Given the description of an element on the screen output the (x, y) to click on. 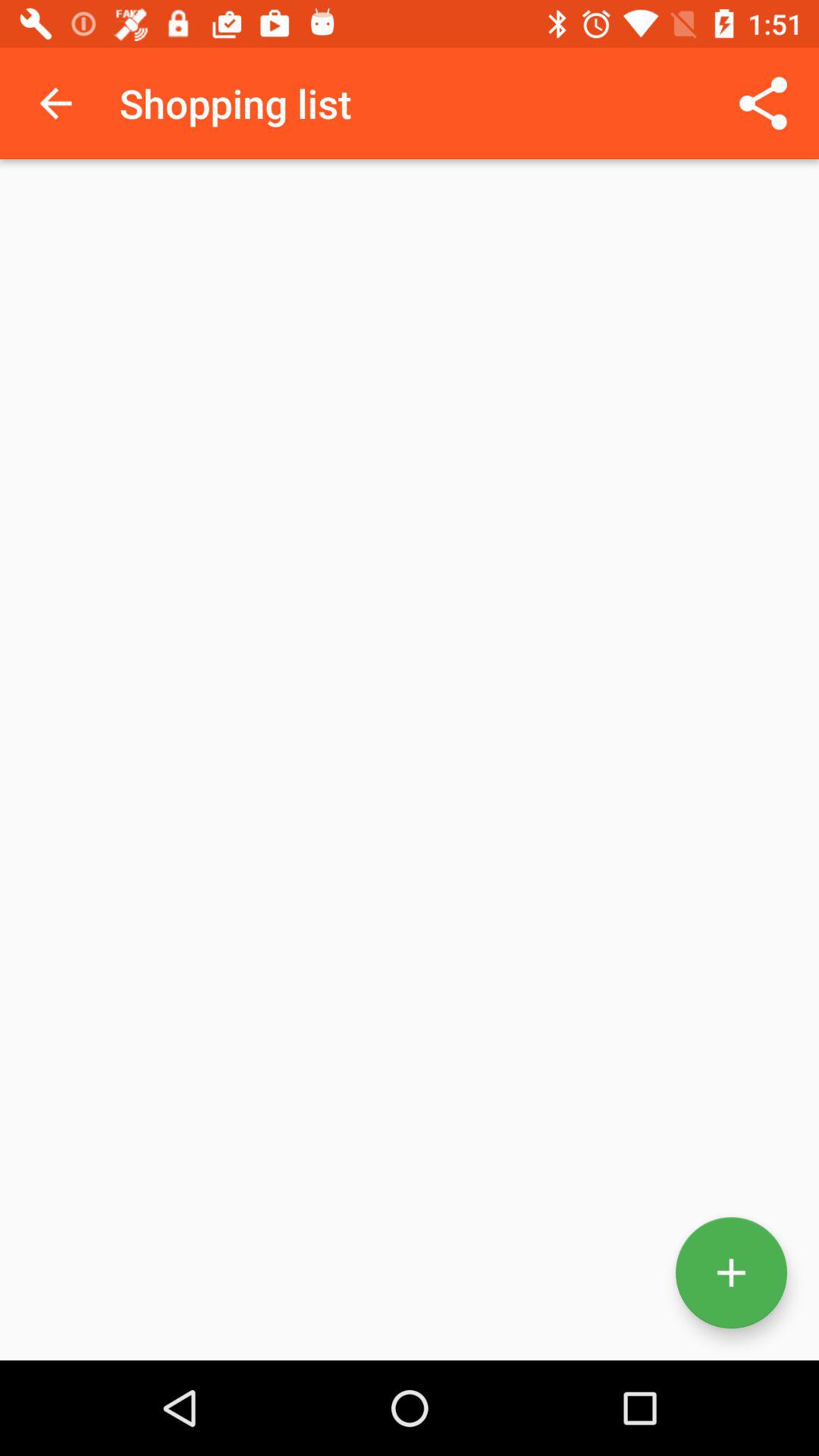
add a list item (731, 1272)
